Given the description of an element on the screen output the (x, y) to click on. 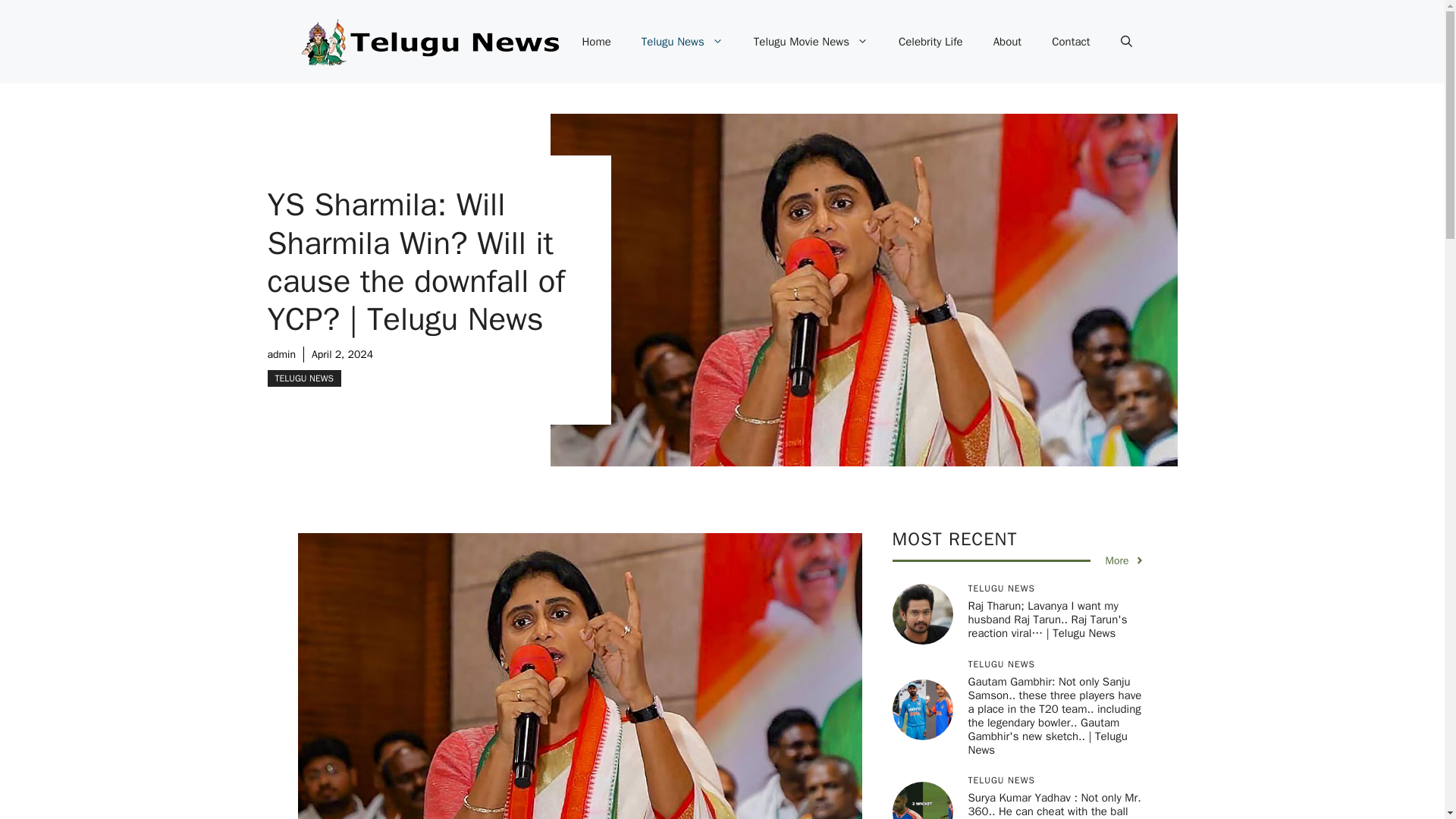
admin (280, 354)
More (1124, 560)
Contact (1070, 41)
About (1007, 41)
Telugu News (682, 41)
Celebrity Life (930, 41)
TELUGU NEWS (303, 378)
Home (596, 41)
Telugu Movie News (810, 41)
